Given the description of an element on the screen output the (x, y) to click on. 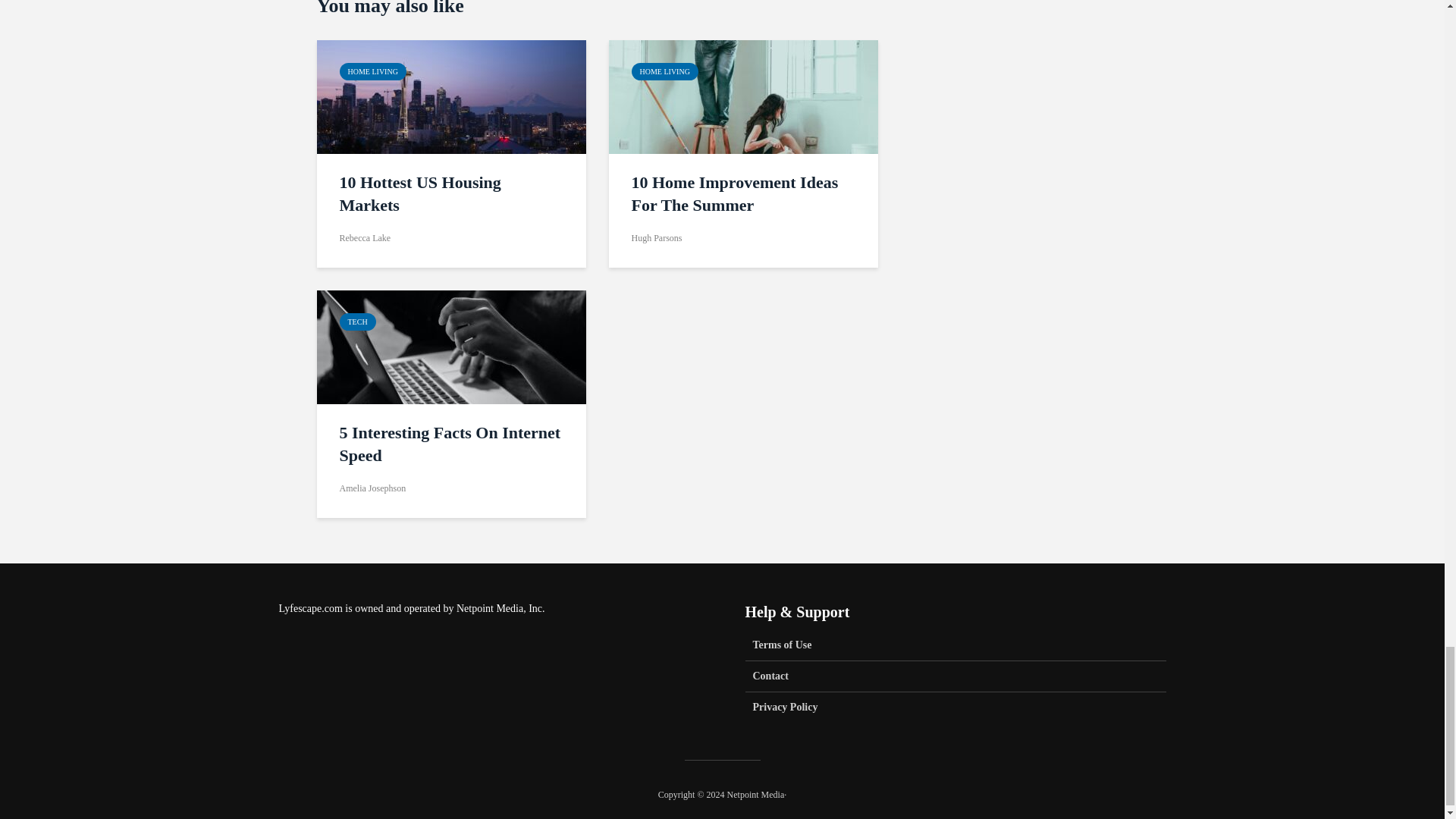
HOME LIVING (663, 71)
Privacy Policy (955, 707)
Rebecca Lake (365, 237)
Contact (955, 676)
Hugh Parsons (655, 237)
TECH (357, 321)
5 Interesting Facts On Internet Speed (451, 345)
Amelia Josephson (372, 488)
10 Home Improvement Ideas For The Summer (742, 95)
10 Hottest US Housing Markets (451, 95)
10 Home Improvement Ideas For The Summer (742, 194)
5 Interesting Facts On Internet Speed (451, 443)
Terms of Use (955, 649)
HOME LIVING (372, 71)
10 Hottest US Housing Markets (451, 194)
